Given the description of an element on the screen output the (x, y) to click on. 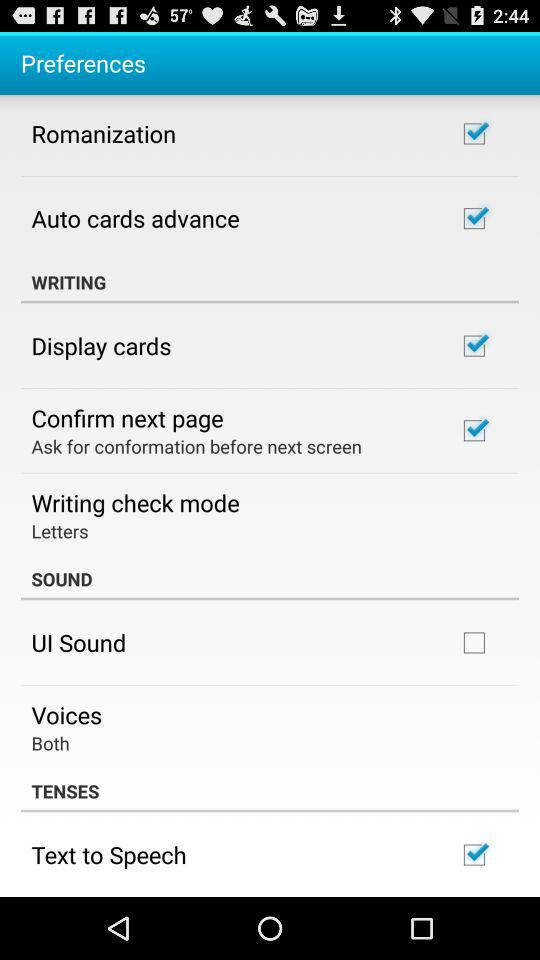
open the letters icon (59, 530)
